Given the description of an element on the screen output the (x, y) to click on. 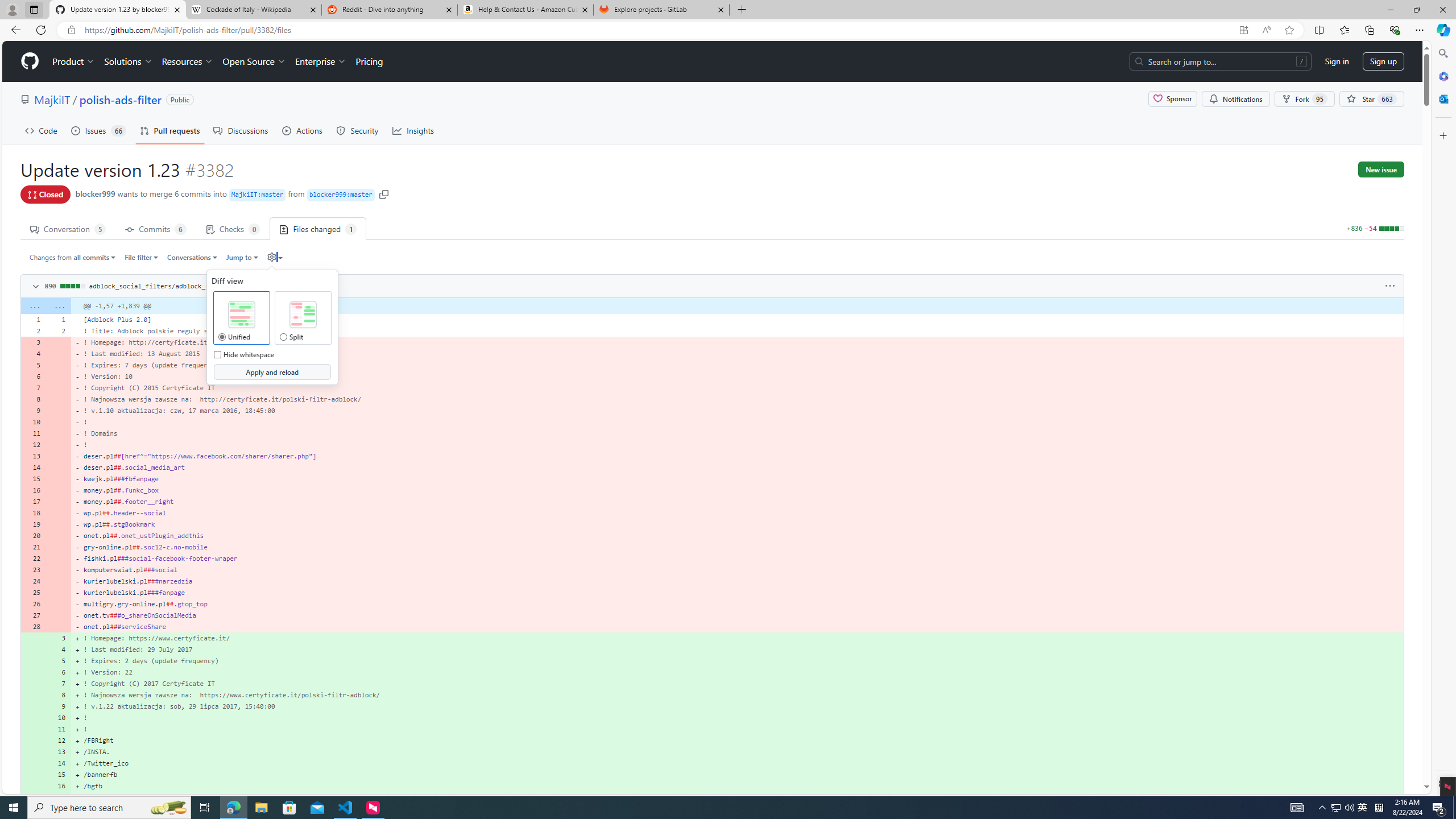
- money.pl##.funkc_box (737, 490)
Show options (1390, 285)
 Star 663 (1371, 98)
14 (58, 763)
Insights (413, 130)
Toggle diff contents (34, 286)
- wp.pl##.stgBookmark (737, 523)
21 (33, 546)
28 (33, 626)
Insights (413, 130)
15 (58, 774)
18 (33, 512)
Split Diff View Split (282, 336)
